Given the description of an element on the screen output the (x, y) to click on. 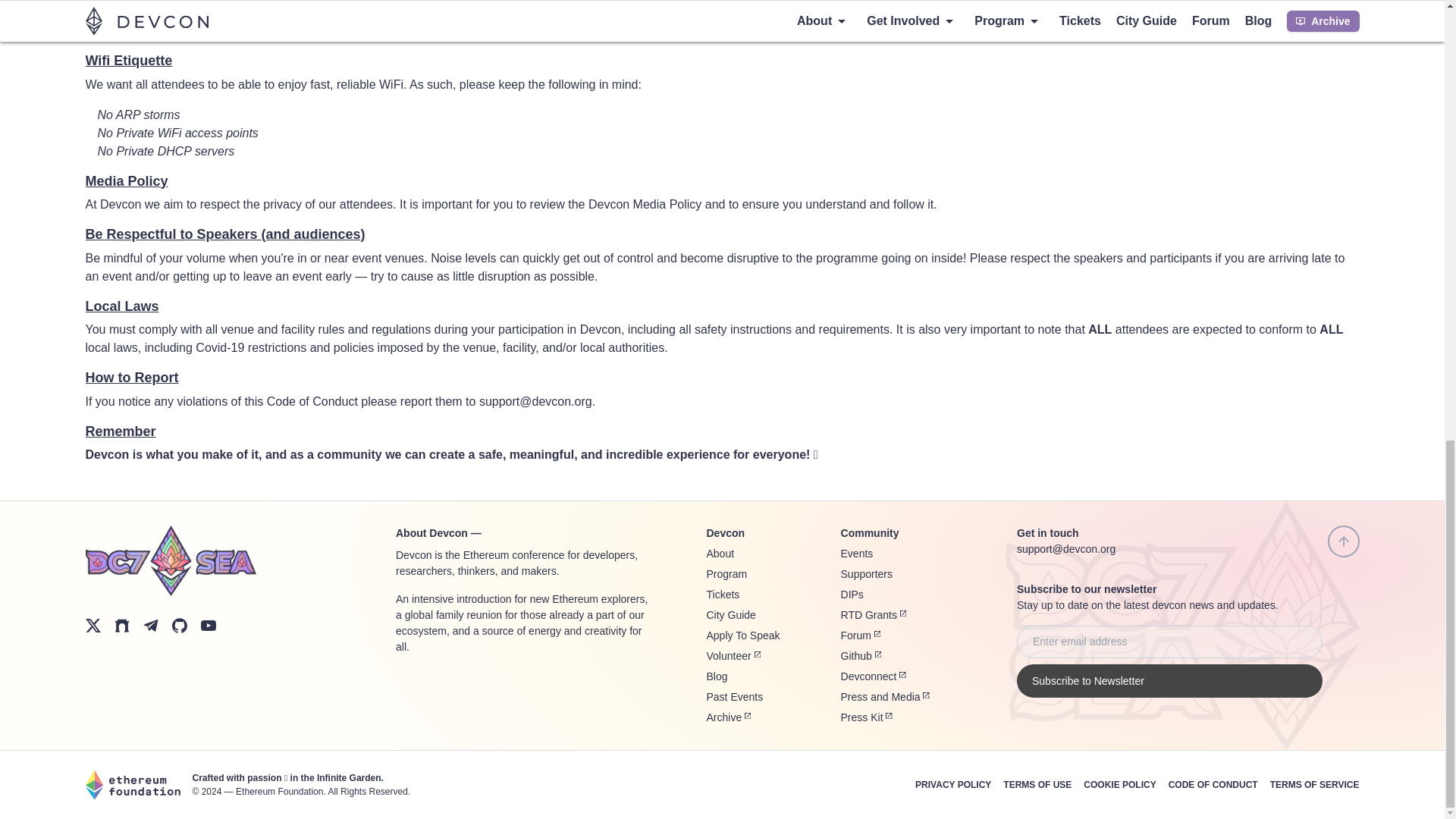
Program (727, 573)
Volunteer  (733, 655)
About (720, 553)
RTD Grants  (874, 614)
City Guide (730, 614)
Apply To Speak (743, 635)
DIPs (852, 594)
Supporters (866, 573)
Archive  (728, 717)
Tickets (722, 594)
Past Events (734, 696)
Events (857, 553)
Blog (717, 676)
